Given the description of an element on the screen output the (x, y) to click on. 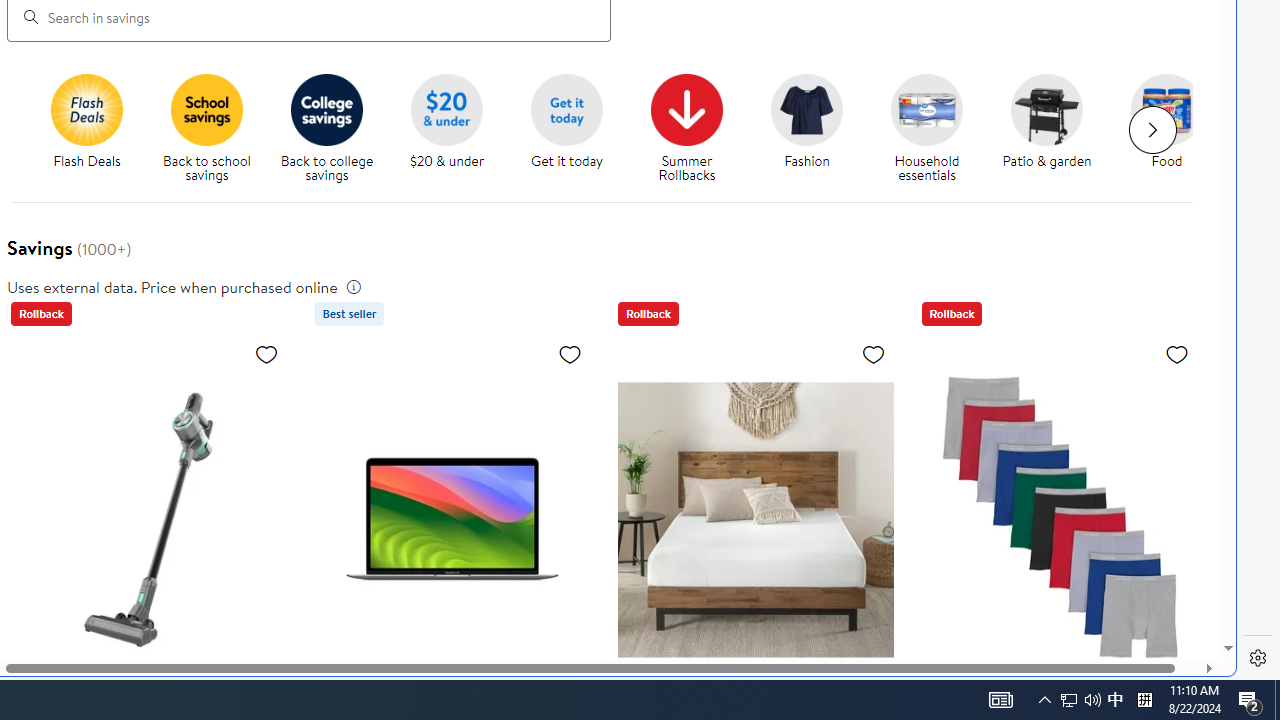
Settings (1258, 658)
Back to College savings Back to college savings (326, 128)
$20 and under $20 & under (447, 122)
Summer Rollbacks (687, 109)
$20 and under (446, 109)
Back to School savings Back to school savings (206, 128)
Get it today (574, 128)
Household essentials (926, 109)
Get it today (566, 109)
Back to school savings (214, 128)
Patio & garden (1054, 128)
Flash deals Flash Deals (86, 122)
Food (1174, 128)
